Given the description of an element on the screen output the (x, y) to click on. 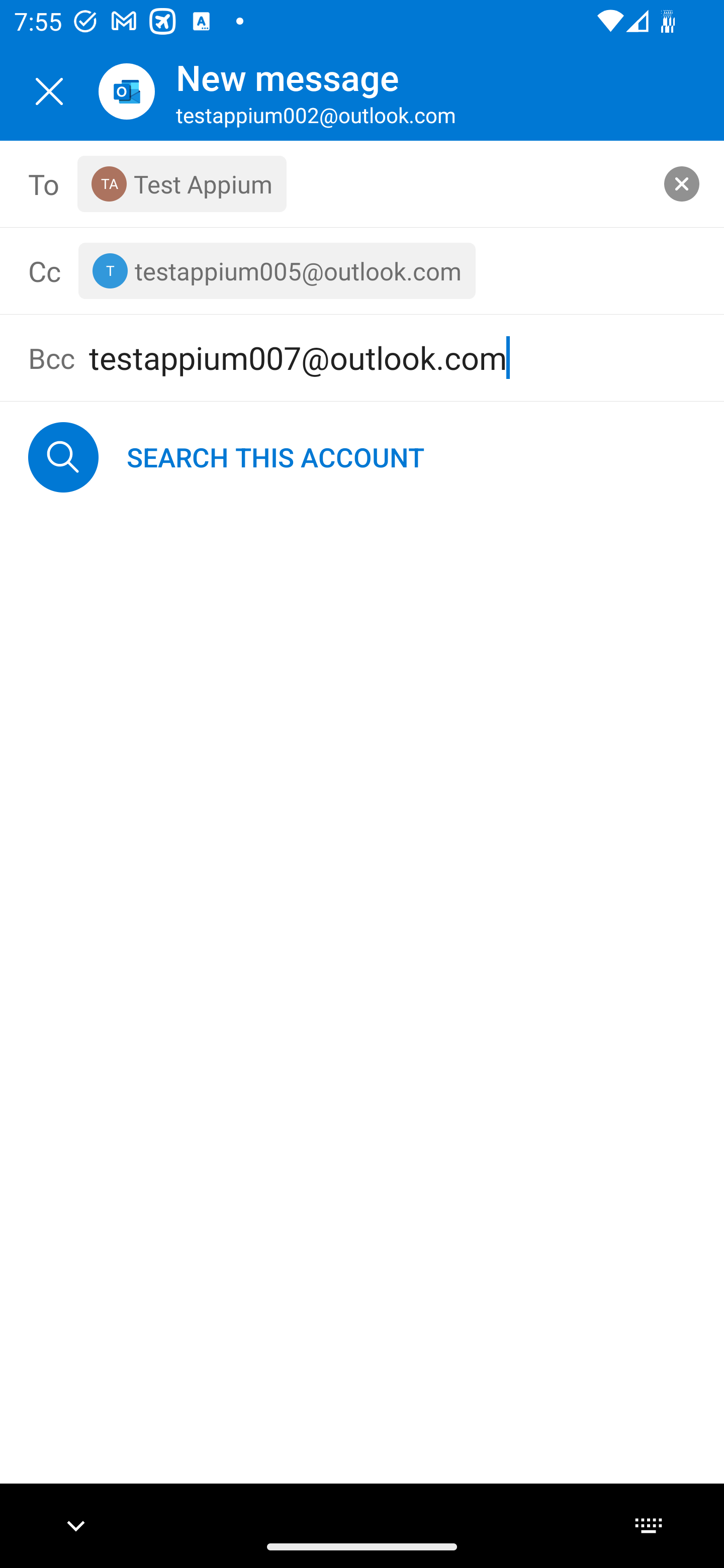
Close (49, 91)
clear search (681, 183)
testappium007@outlook.com (392, 358)
